Given the description of an element on the screen output the (x, y) to click on. 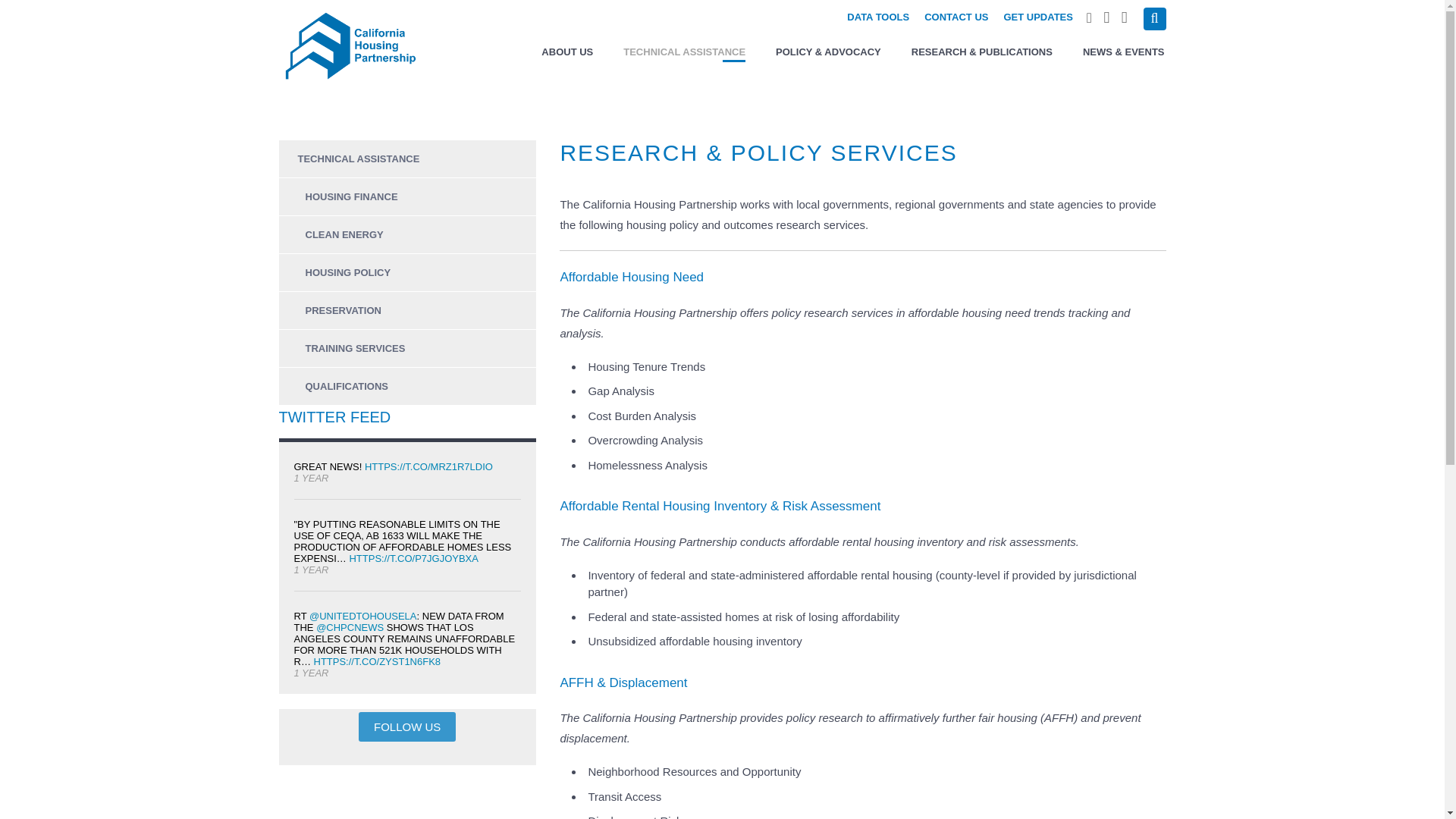
GET UPDATES (1038, 17)
CONTACT US (956, 17)
TECHNICAL ASSISTANCE (684, 49)
Search for: (1154, 18)
ABOUT US (566, 49)
Search (1154, 18)
DATA TOOLS (877, 17)
